Given the description of an element on the screen output the (x, y) to click on. 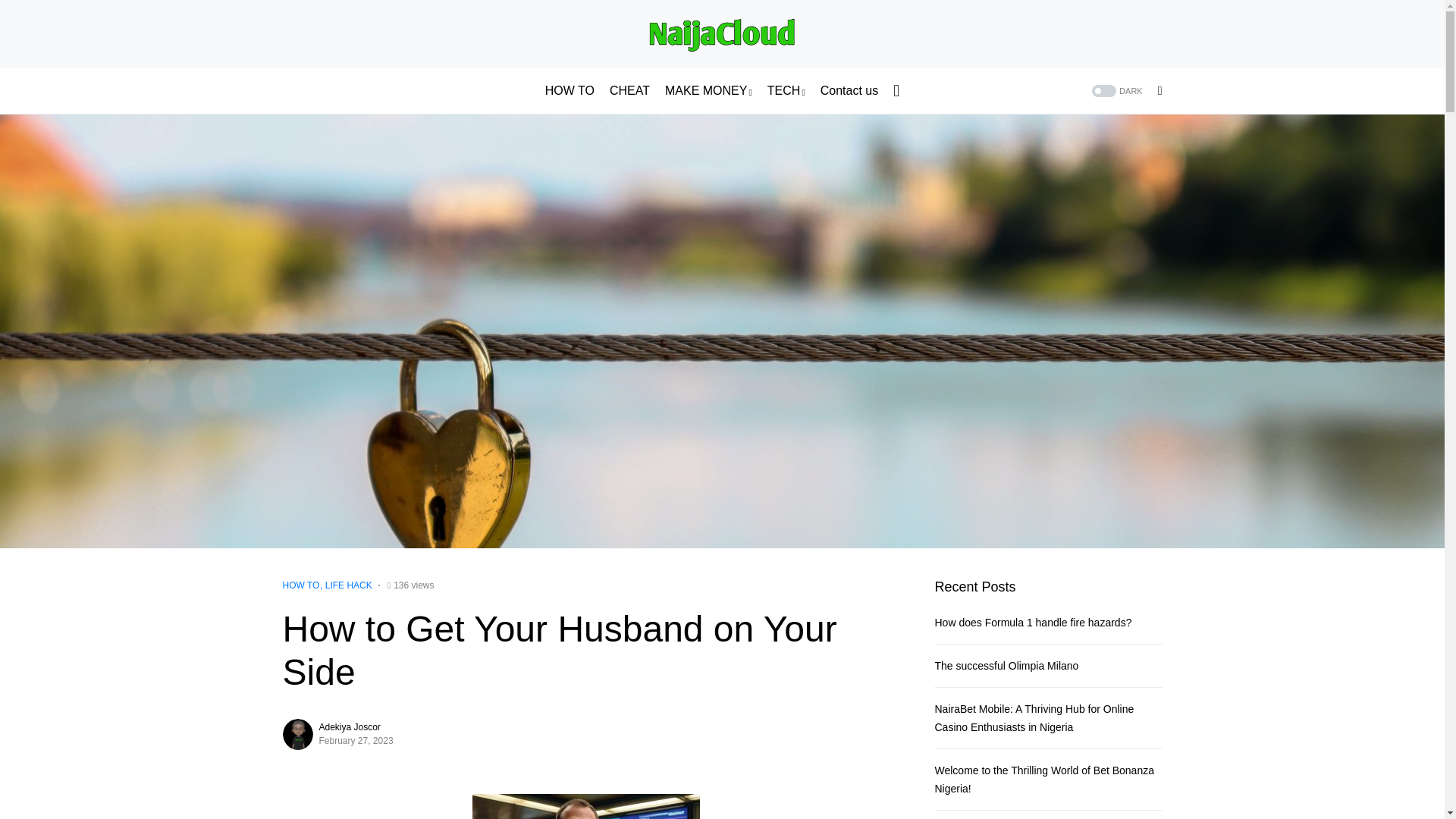
MAKE MONEY (708, 90)
HOW TO (569, 90)
Contact us (849, 90)
